Given the description of an element on the screen output the (x, y) to click on. 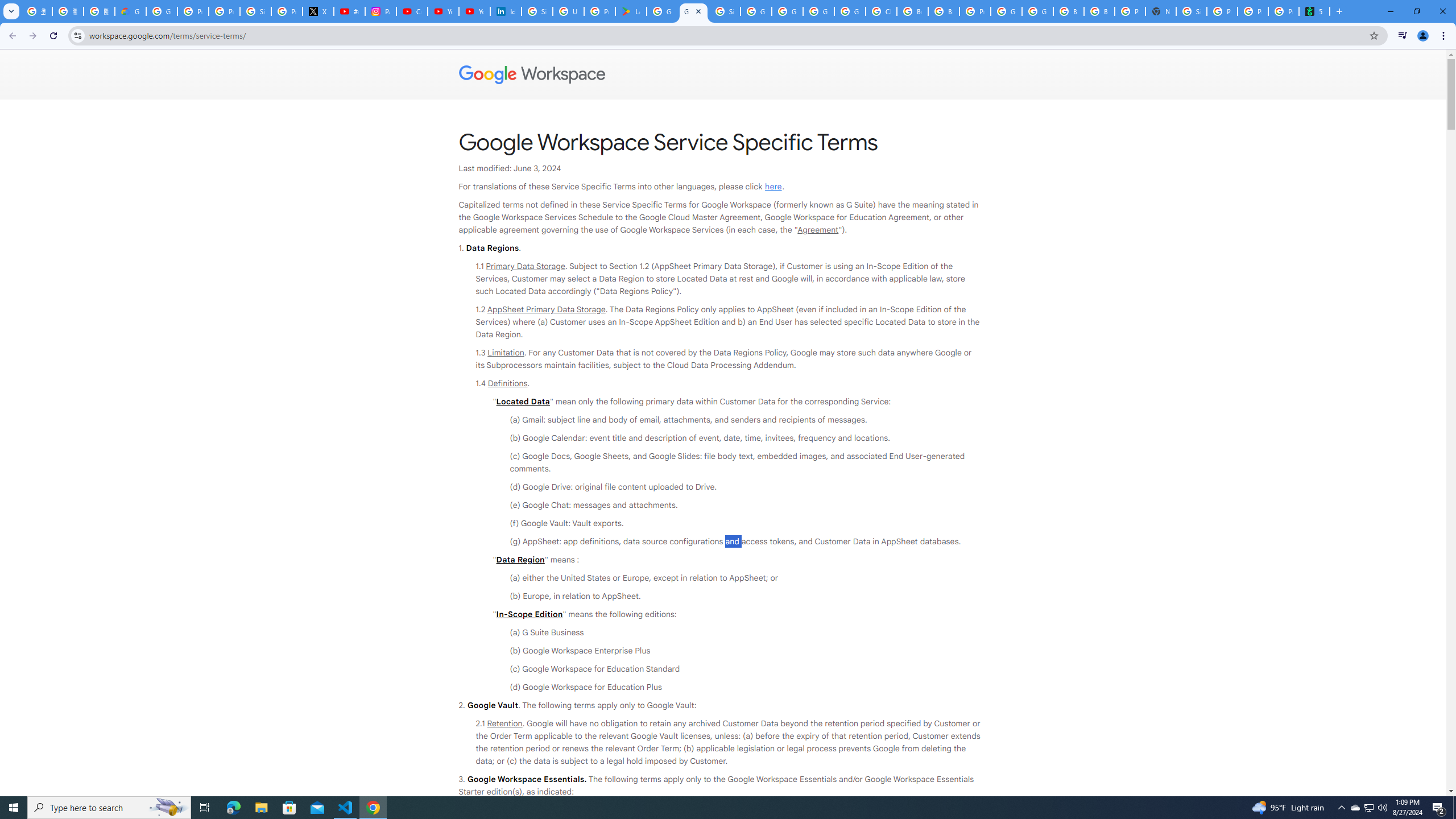
Identity verification via Persona | LinkedIn Help (505, 11)
Last Shelter: Survival - Apps on Google Play (631, 11)
Browse Chrome as a guest - Computer - Google Chrome Help (943, 11)
Browse Chrome as a guest - Computer - Google Chrome Help (1098, 11)
View site information (77, 35)
Chrome (1445, 35)
You (1422, 35)
Google Cloud Privacy Notice (130, 11)
Search tabs (10, 11)
